Given the description of an element on the screen output the (x, y) to click on. 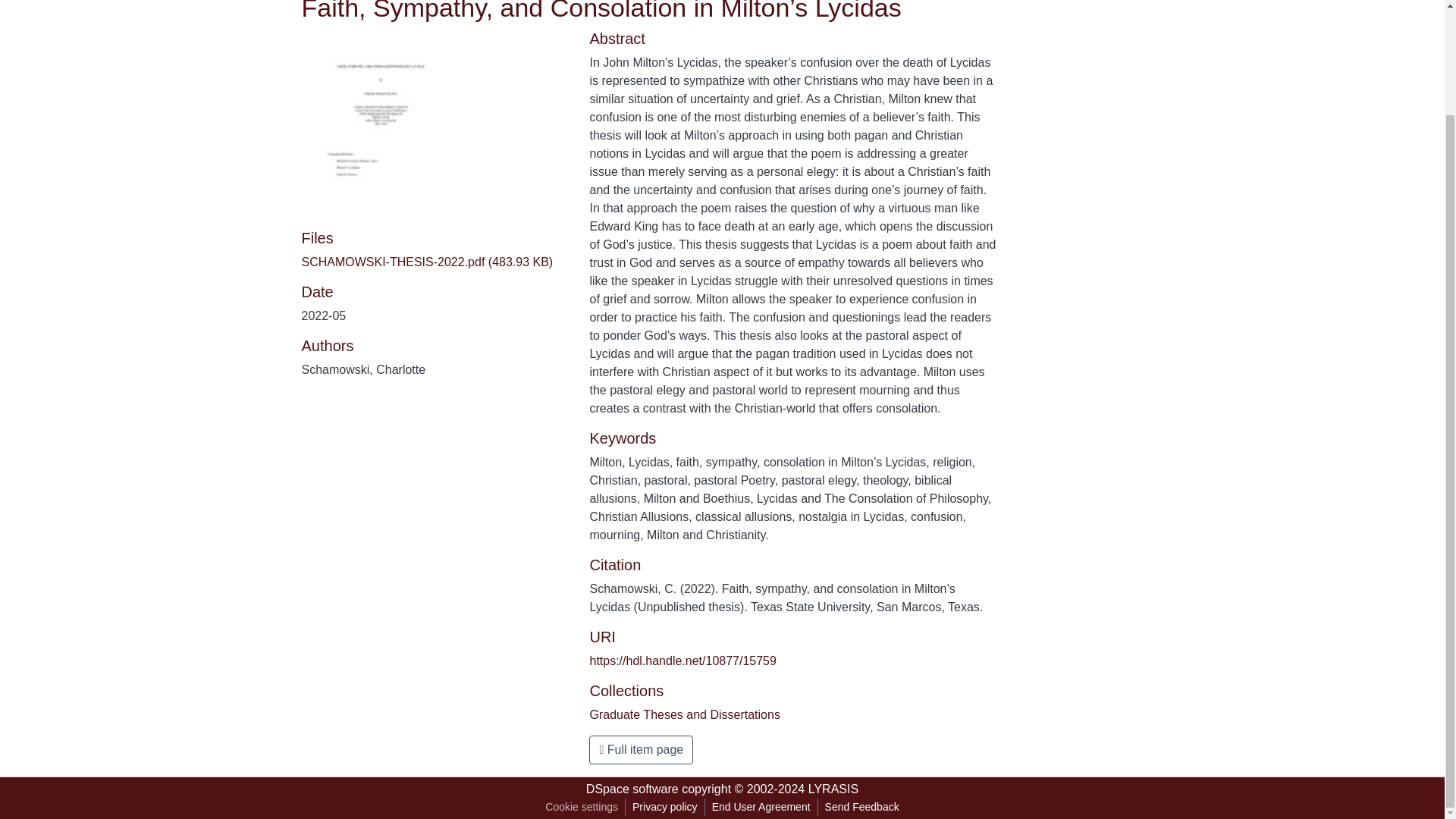
Cookie settings (581, 806)
End User Agreement (760, 806)
Privacy policy (665, 806)
Graduate Theses and Dissertations (683, 714)
Send Feedback (861, 806)
LYRASIS (833, 788)
Full item page (641, 749)
DSpace software (632, 788)
